Given the description of an element on the screen output the (x, y) to click on. 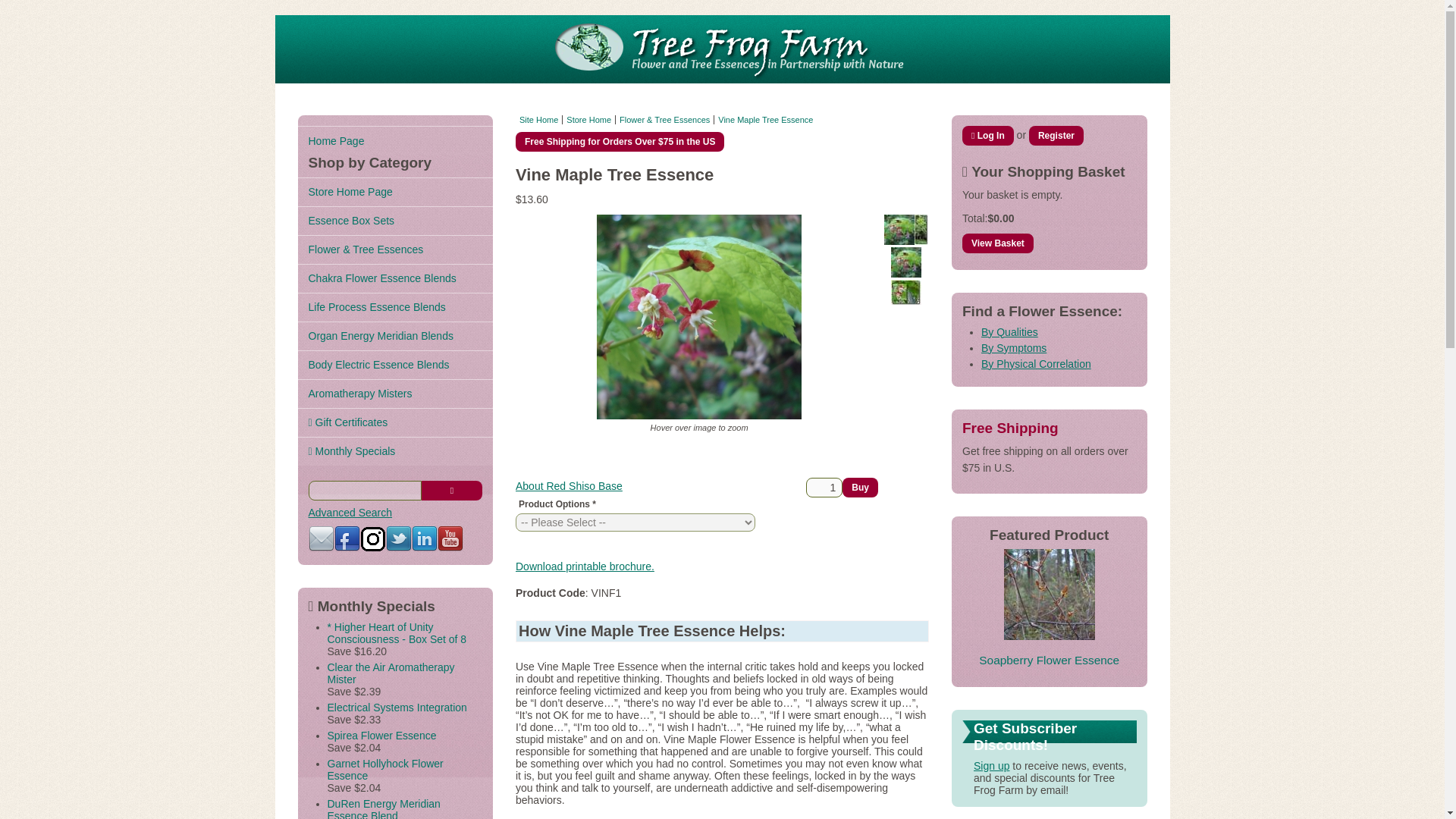
DuRen Energy Meridian Essence Blend (384, 808)
Find us on LinkedIn (423, 539)
Essence Box Sets (395, 220)
Aromatherapy Misters (395, 393)
Body Electric Essence Blends (395, 364)
Site Home (538, 119)
Aromatherapy Misters (395, 393)
Watch us on YouTube (449, 539)
Home Page (395, 140)
Chakra Flower Essence Blends (395, 277)
Garnet Hollyhock Flower Essence (385, 769)
Subscribe to Email Newsletter (320, 539)
Advanced Search (349, 512)
Life Process Essence Blends (395, 306)
Electrical Systems Integration (397, 707)
